Given the description of an element on the screen output the (x, y) to click on. 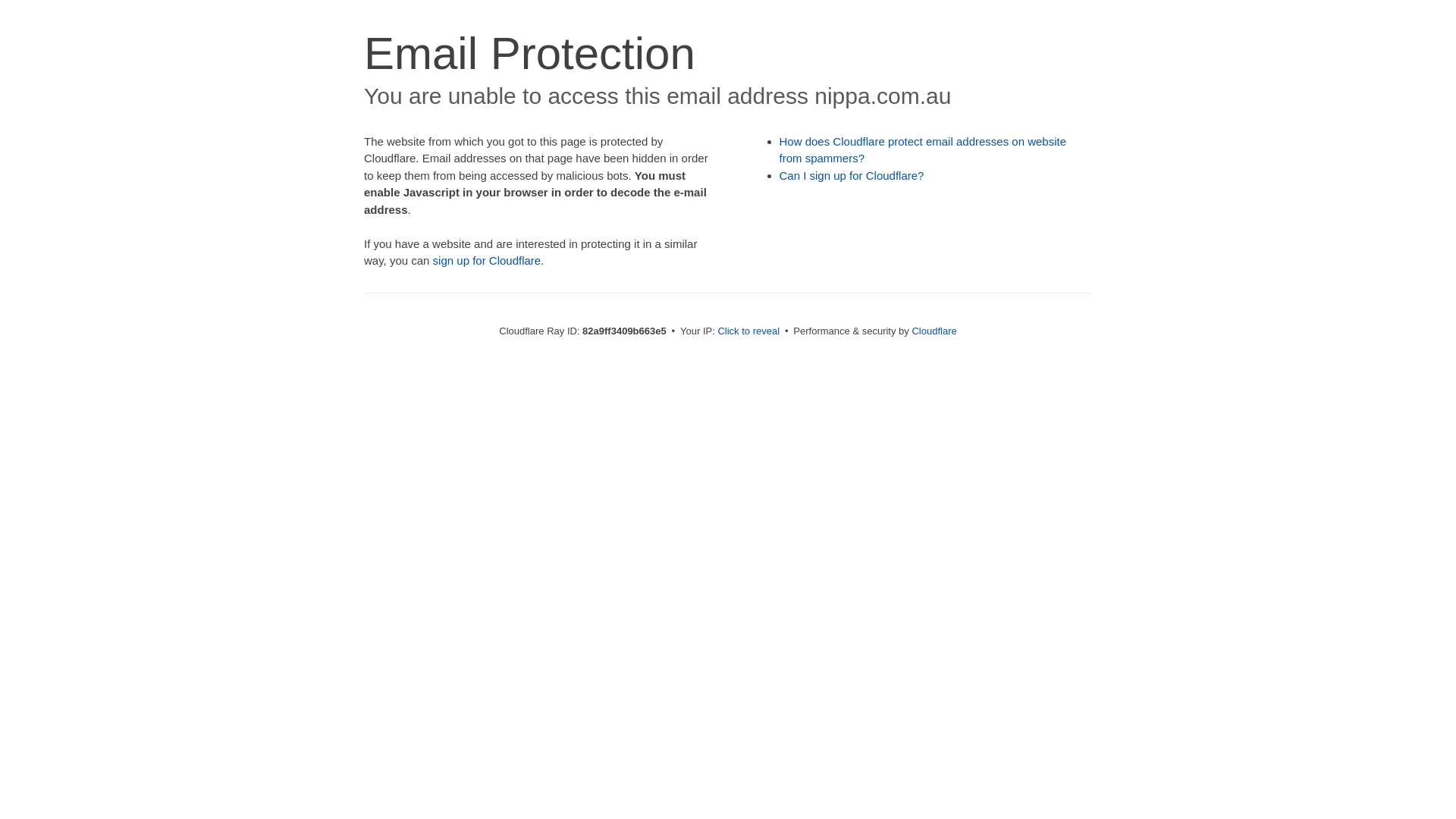
Cloudflare Element type: text (933, 330)
sign up for Cloudflare Element type: text (487, 260)
Can I sign up for Cloudflare? Element type: text (851, 175)
Click to reveal Element type: text (748, 330)
